Given the description of an element on the screen output the (x, y) to click on. 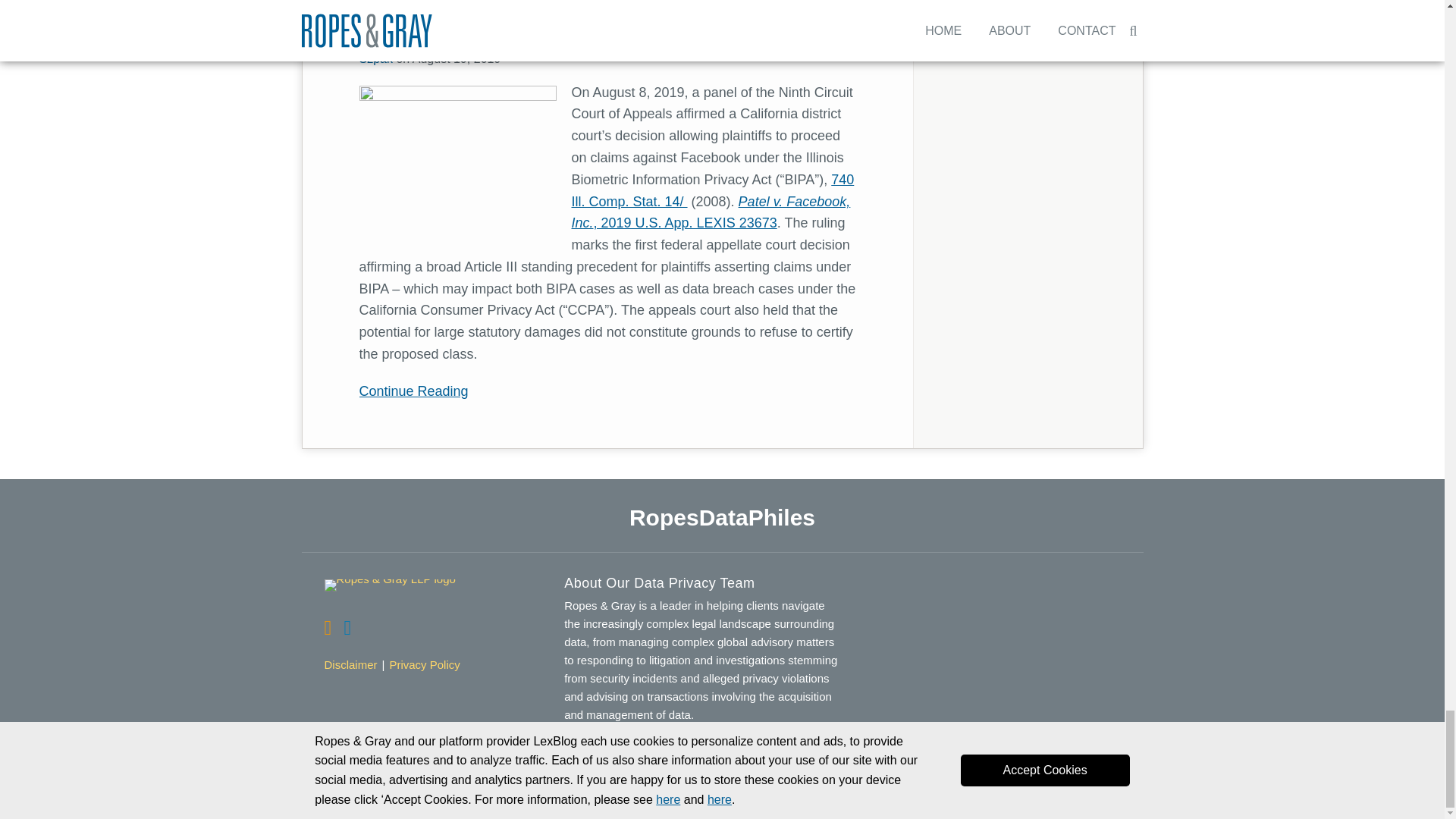
LexBlog Logo (1131, 793)
